Given the description of an element on the screen output the (x, y) to click on. 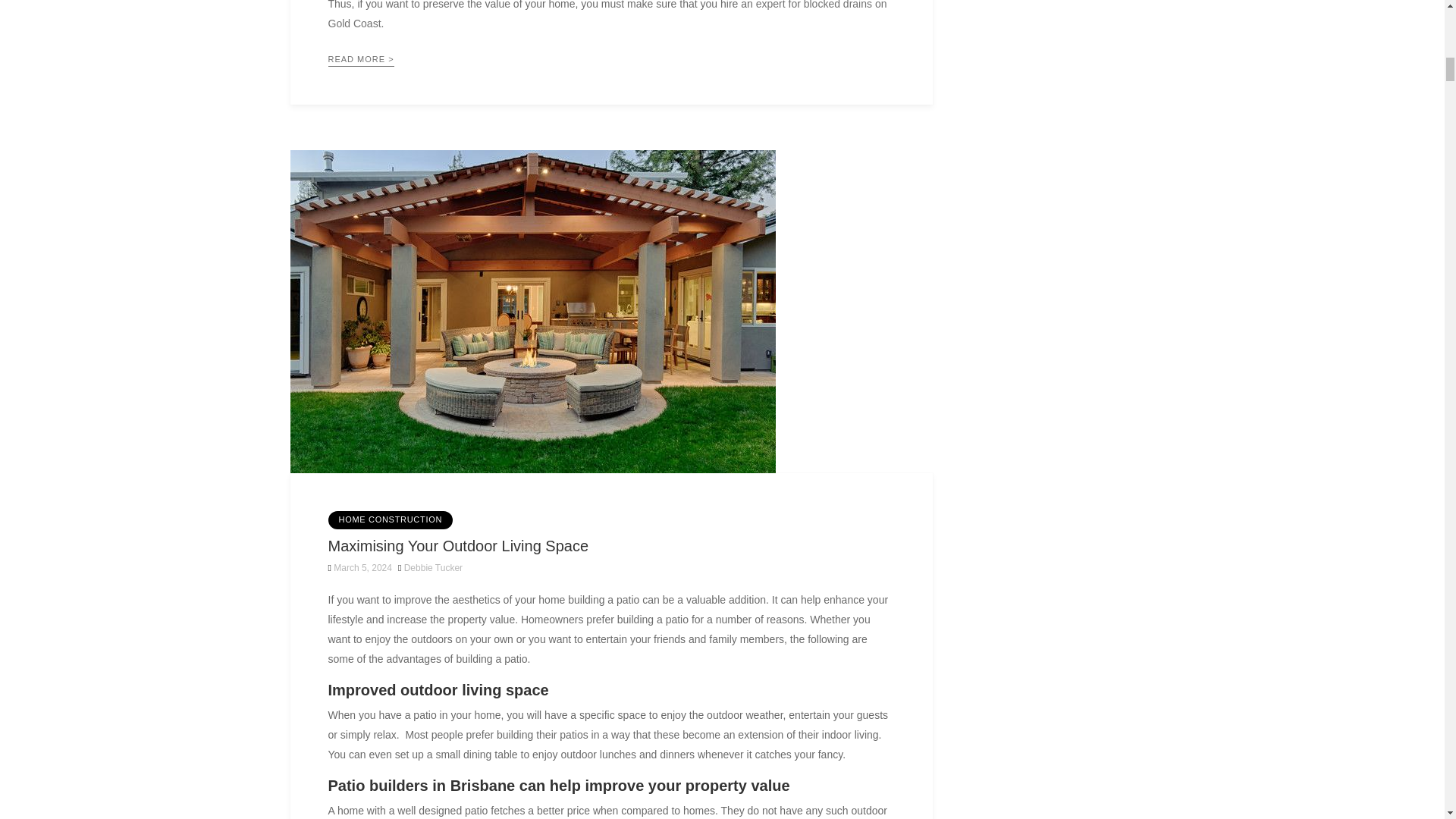
March 5, 2024 (359, 567)
expert for blocked drains on Gold Coast (606, 14)
HOME CONSTRUCTION (389, 519)
Debbie Tucker (433, 567)
Maximising Your Outdoor Living Space (457, 545)
